Given the description of an element on the screen output the (x, y) to click on. 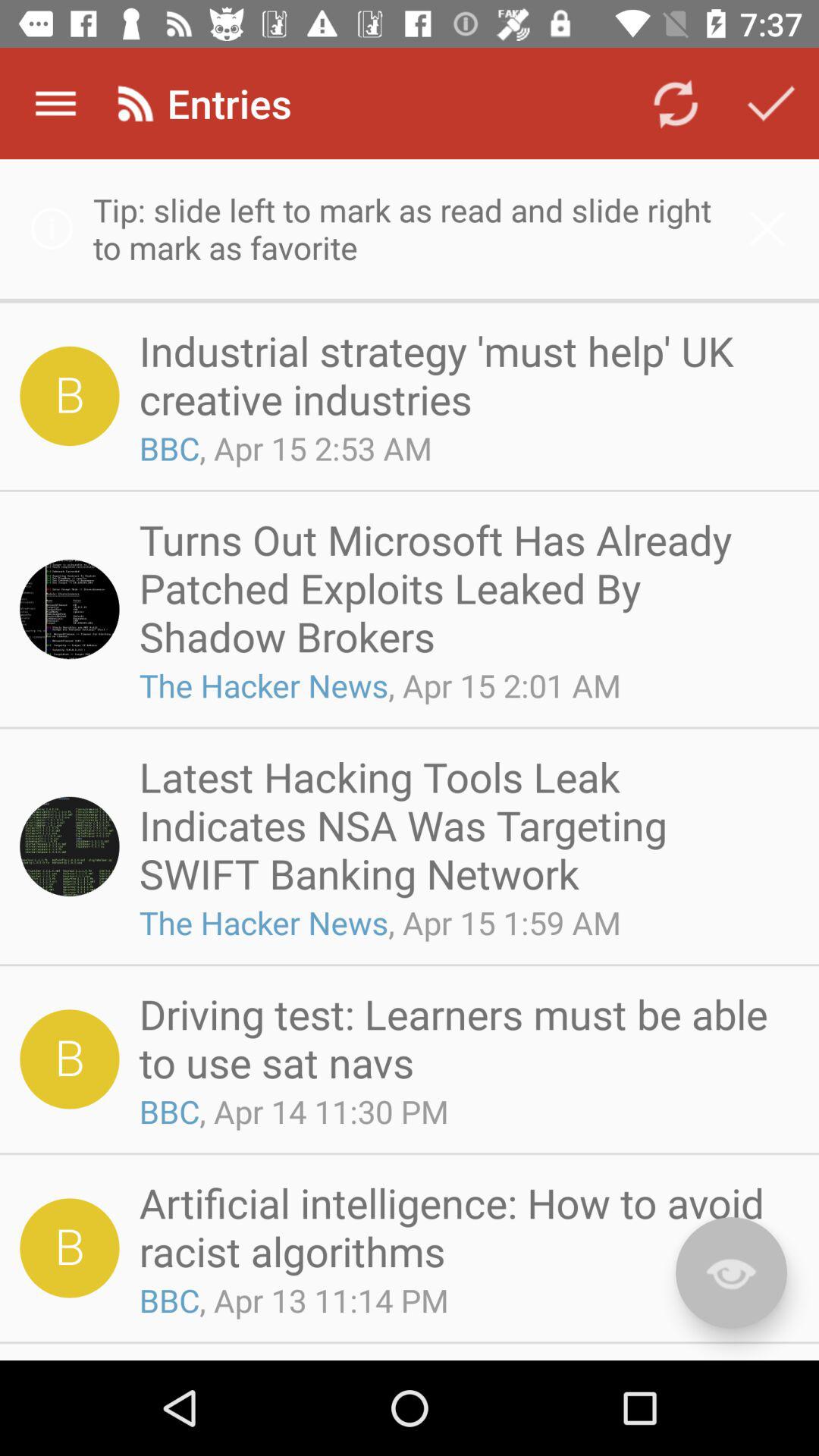
select the app to the right of bbc apr 13 app (731, 1272)
